Given the description of an element on the screen output the (x, y) to click on. 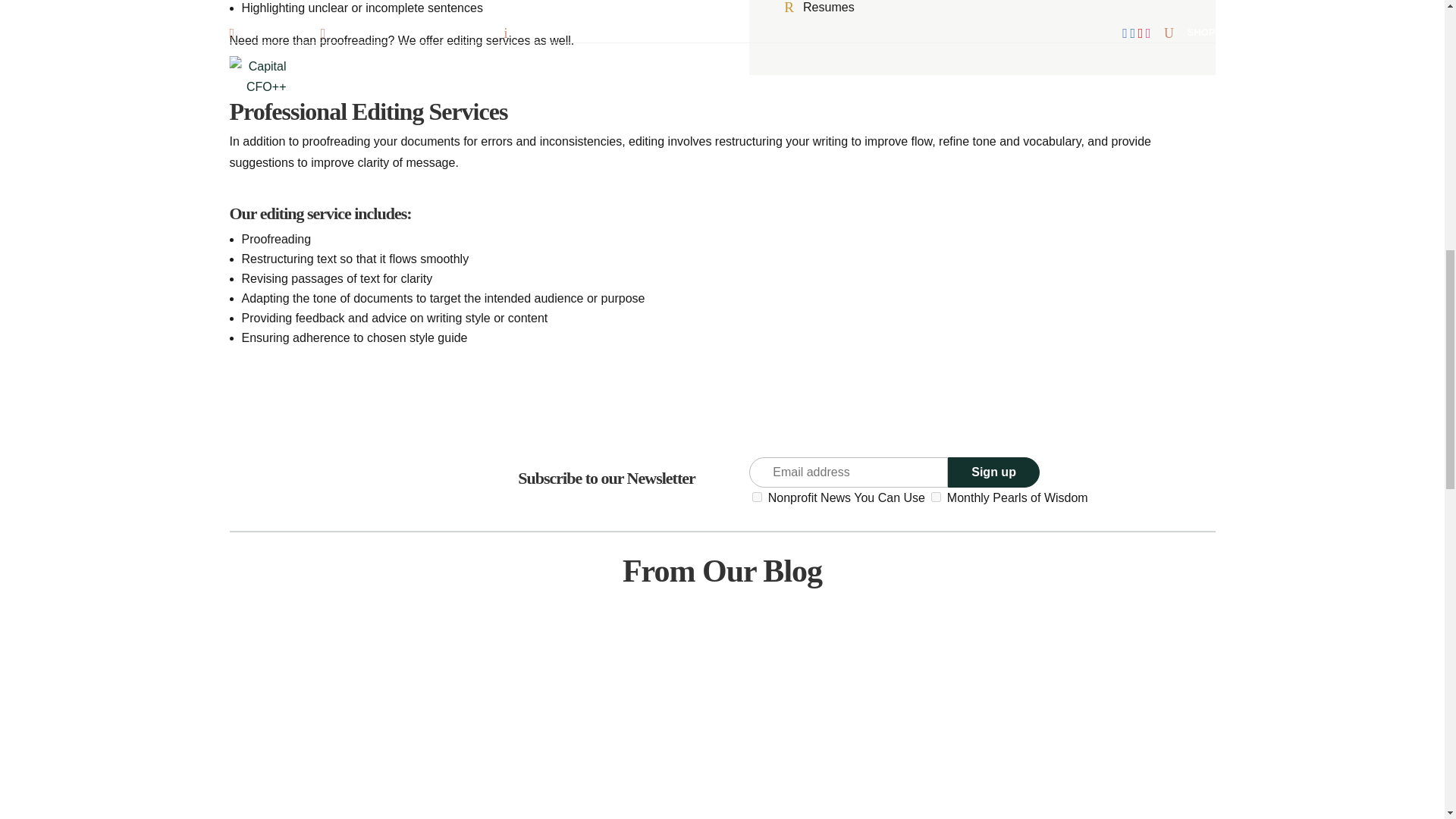
93095b0e5d (935, 497)
5700db77b4 (756, 497)
Sign up (993, 472)
